Given the description of an element on the screen output the (x, y) to click on. 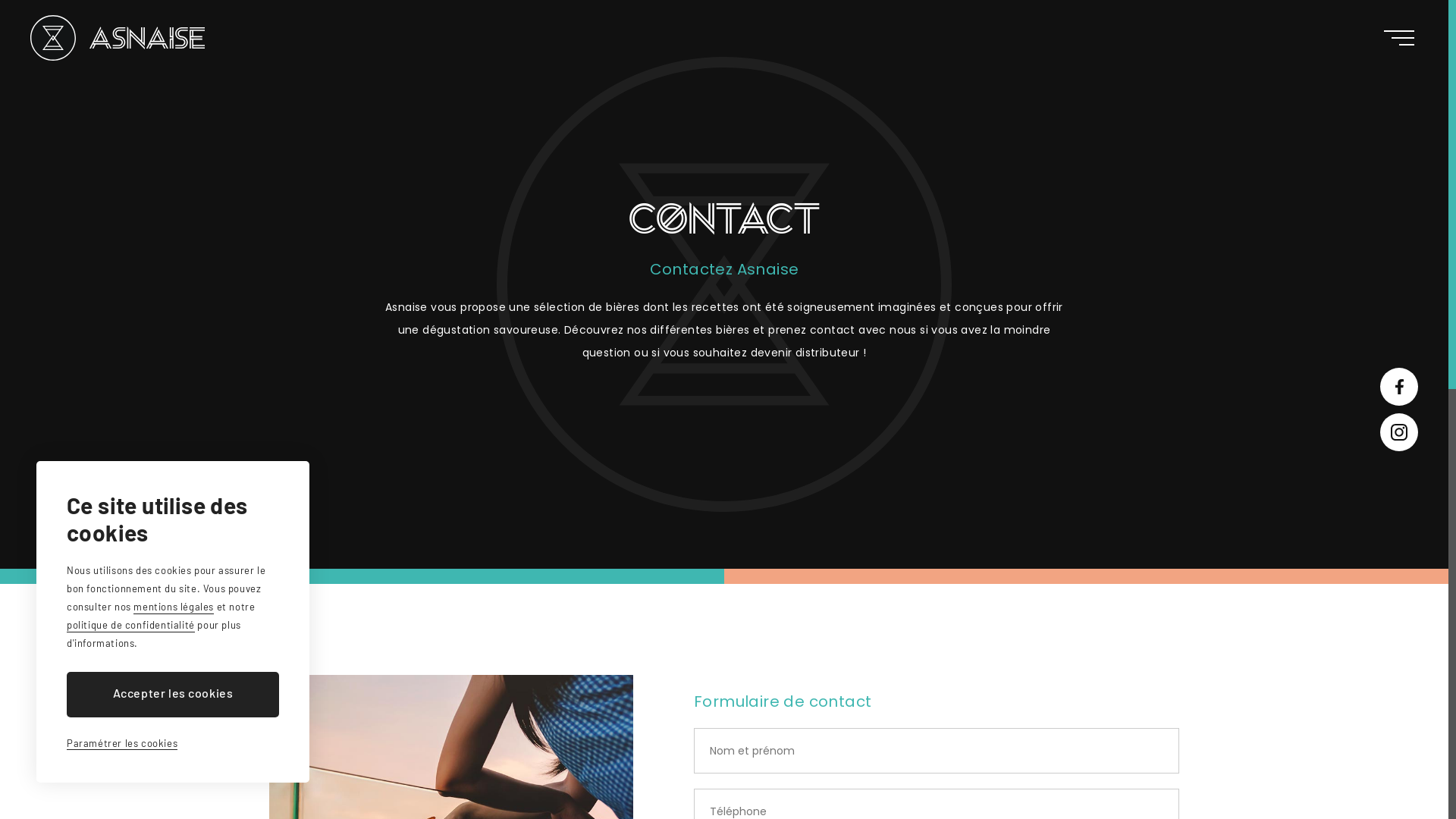
Facebook Element type: hover (1399, 386)
Asnaise Element type: hover (117, 37)
Instagram Element type: hover (1399, 432)
